Given the description of an element on the screen output the (x, y) to click on. 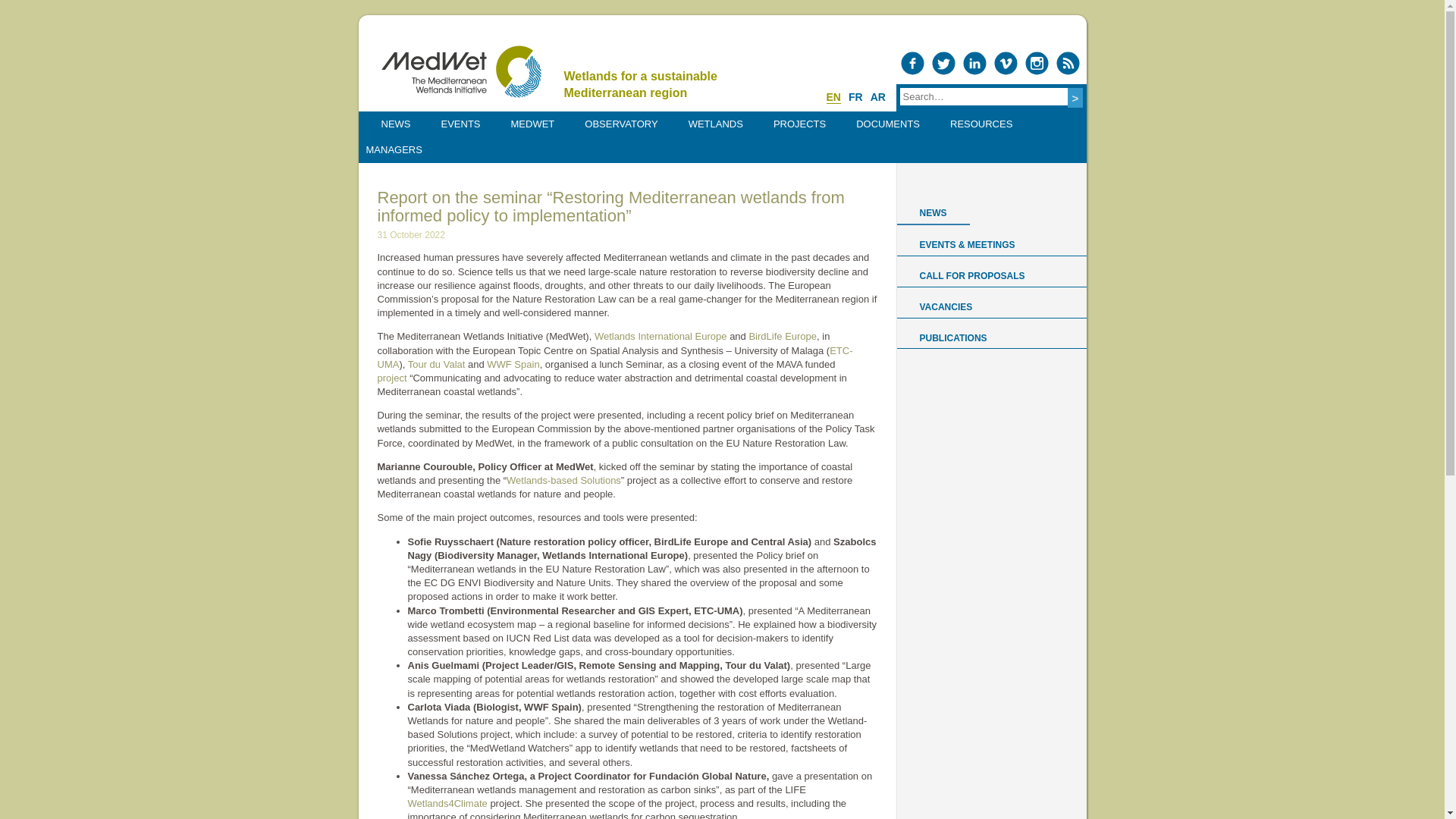
MEDWET (532, 124)
MedWet (460, 71)
MANAGERS (393, 149)
Tour du Valat (436, 364)
Wetlands International Europe (660, 336)
OBSERVATORY (620, 124)
WWF Spain (512, 364)
EVENTS (460, 124)
project (392, 378)
MedWet (460, 71)
Wetlands4Climate (447, 803)
NEWS (394, 124)
Wetlands-based Solutions (563, 480)
